Given the description of an element on the screen output the (x, y) to click on. 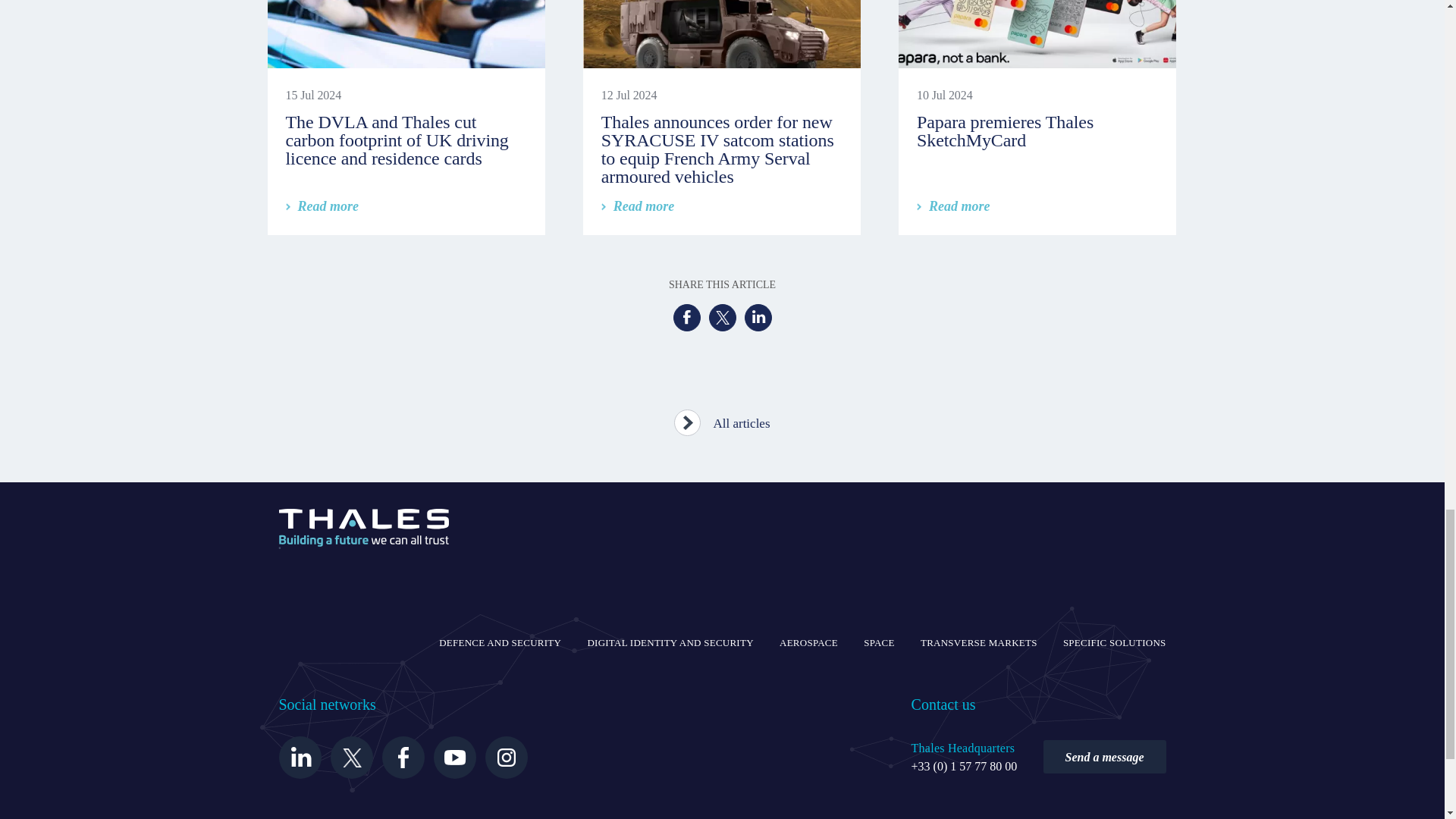
Papara premieres Thales SketchMyCard (1005, 130)
LinkedIn (757, 317)
Facebook (686, 317)
Read more (953, 206)
DEFENCE AND SECURITY (499, 642)
All articles (722, 418)
Twitter (721, 317)
Read more (321, 206)
Read more (638, 206)
DIGITAL IDENTITY AND SECURITY (669, 642)
